Given the description of an element on the screen output the (x, y) to click on. 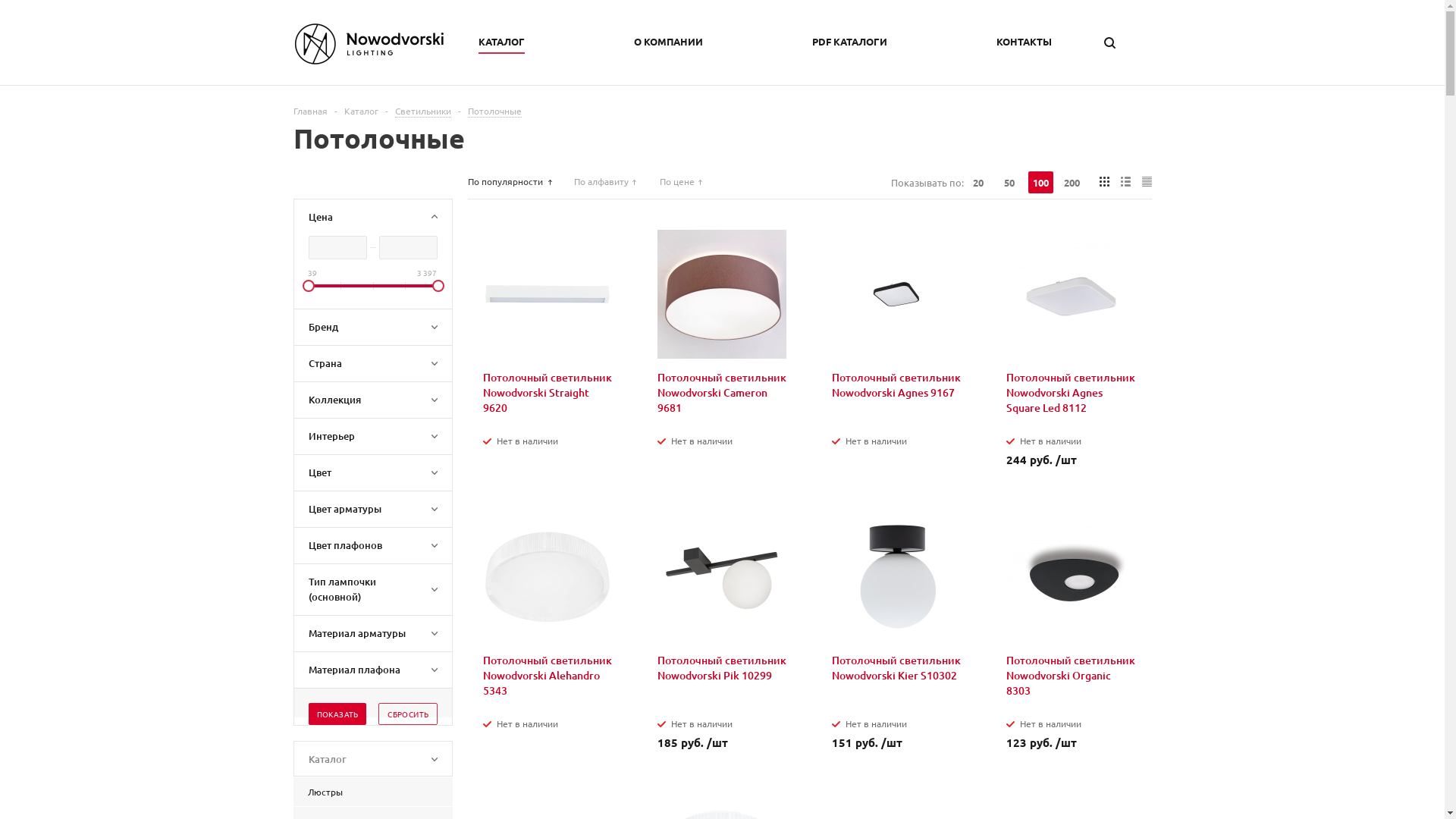
20 Element type: text (978, 182)
50 Element type: text (1008, 182)
200 Element type: text (1070, 182)
